Given the description of an element on the screen output the (x, y) to click on. 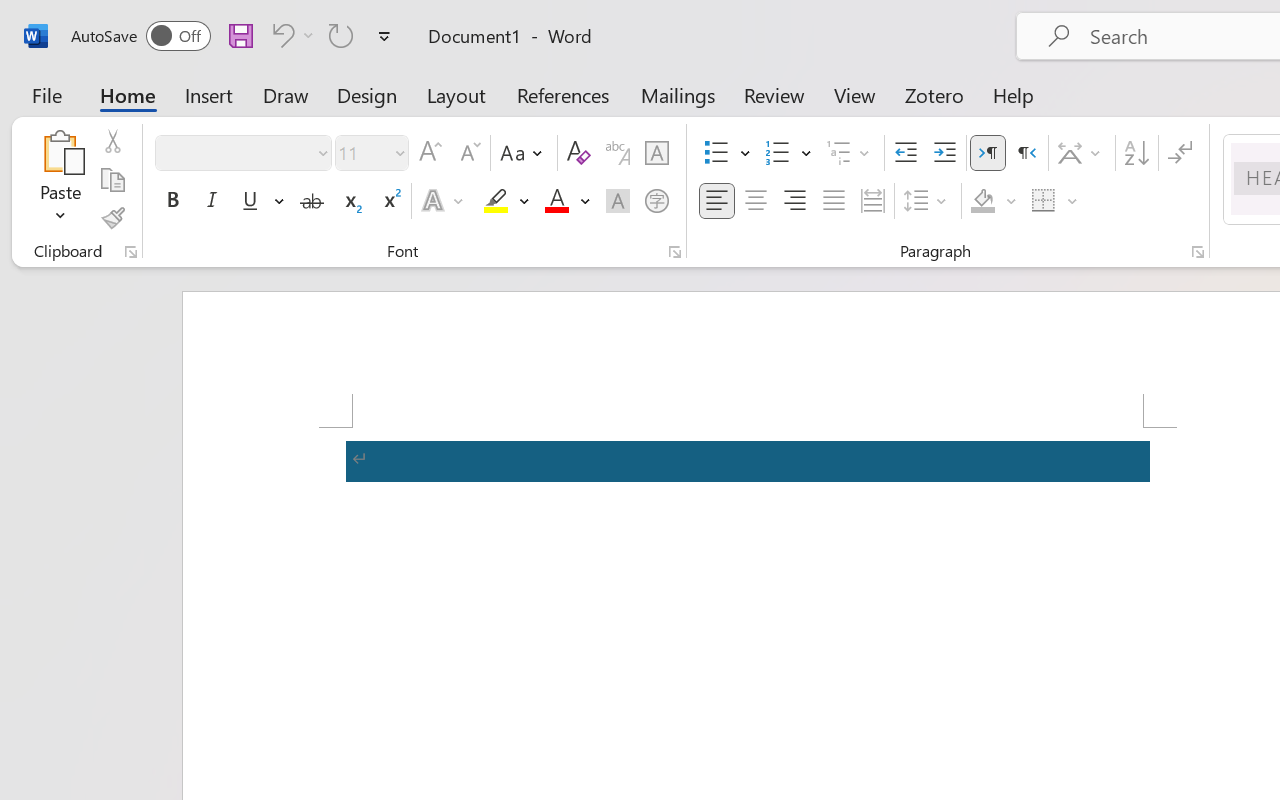
Undo Apply Quick Style Set (290, 35)
